Given the description of an element on the screen output the (x, y) to click on. 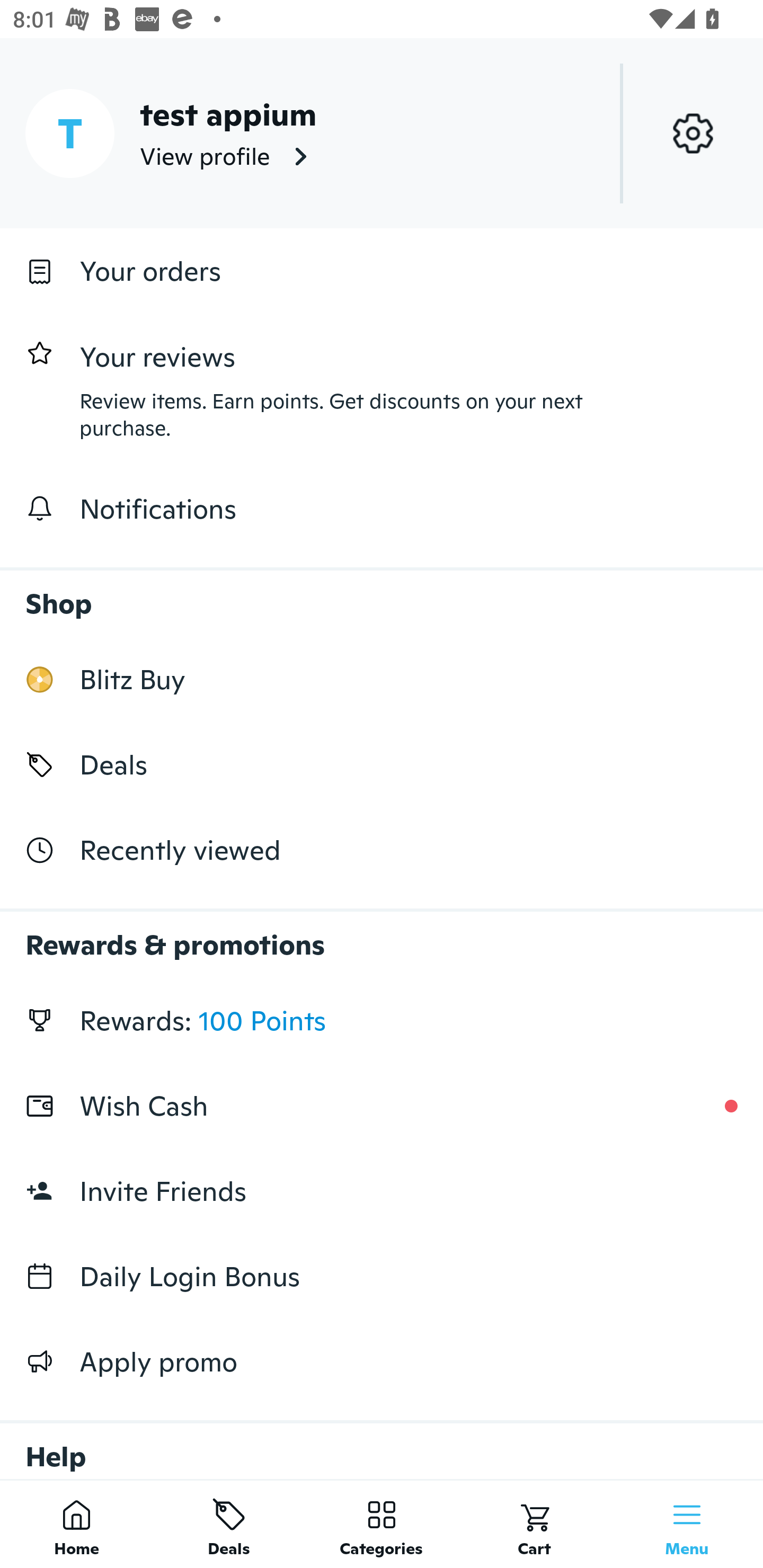
T test appium View profile (381, 132)
Your orders (381, 270)
Notifications (381, 508)
Shop (381, 593)
Blitz Buy (381, 679)
Deals (381, 764)
Recently viewed (381, 850)
Rewards & promotions (381, 935)
Rewards: 100 Points (381, 1020)
Wish Cash (381, 1106)
Invite Friends (381, 1190)
Daily Login Bonus (381, 1277)
Apply promo (381, 1361)
Help (381, 1441)
Home (76, 1523)
Deals (228, 1523)
Categories (381, 1523)
Cart (533, 1523)
Menu (686, 1523)
